Given the description of an element on the screen output the (x, y) to click on. 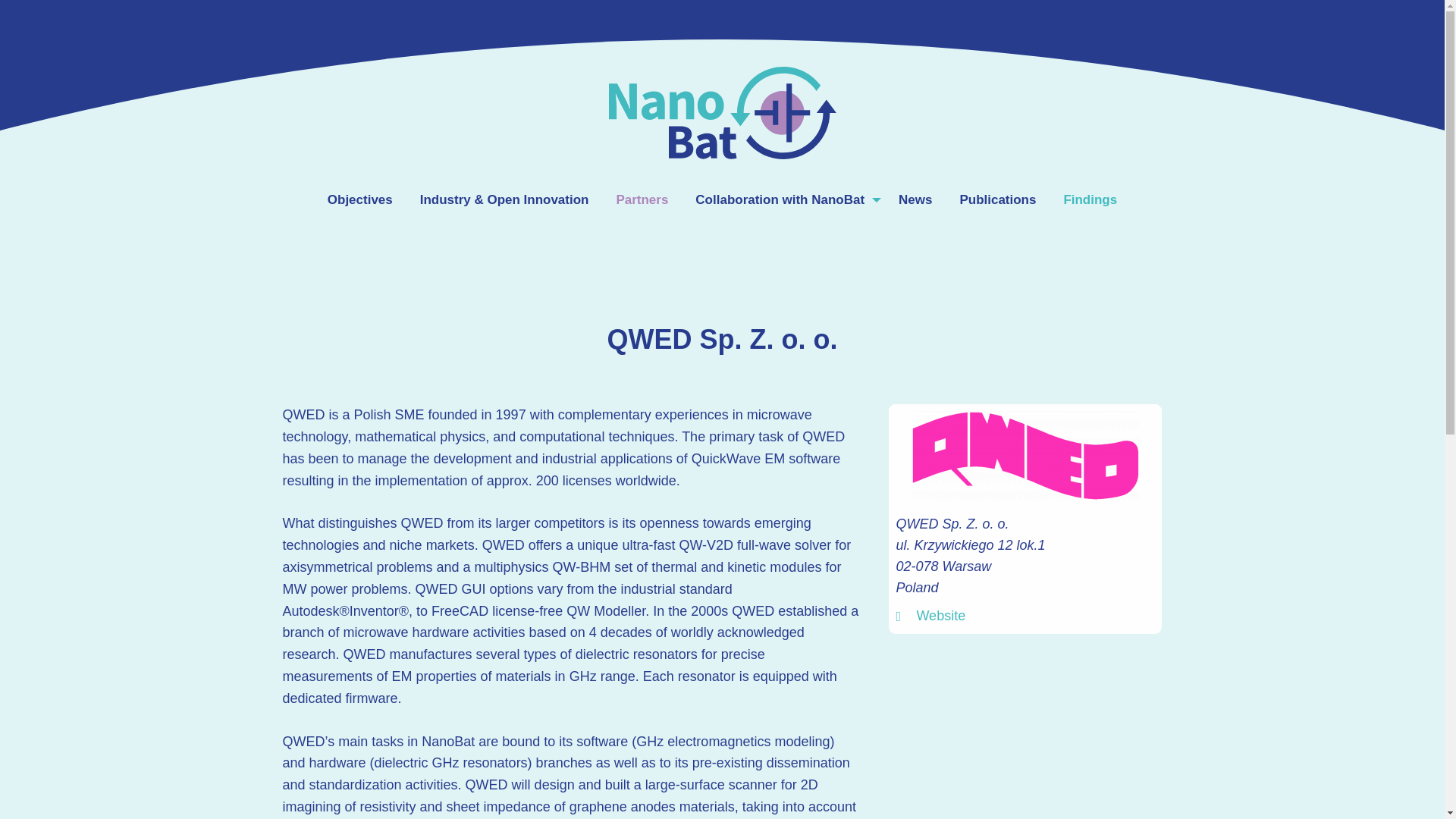
Objectives (360, 199)
Partners (641, 199)
News (914, 199)
Publications (996, 199)
Website (940, 615)
Collaboration with NanoBat (783, 199)
Findings (1090, 199)
